Given the description of an element on the screen output the (x, y) to click on. 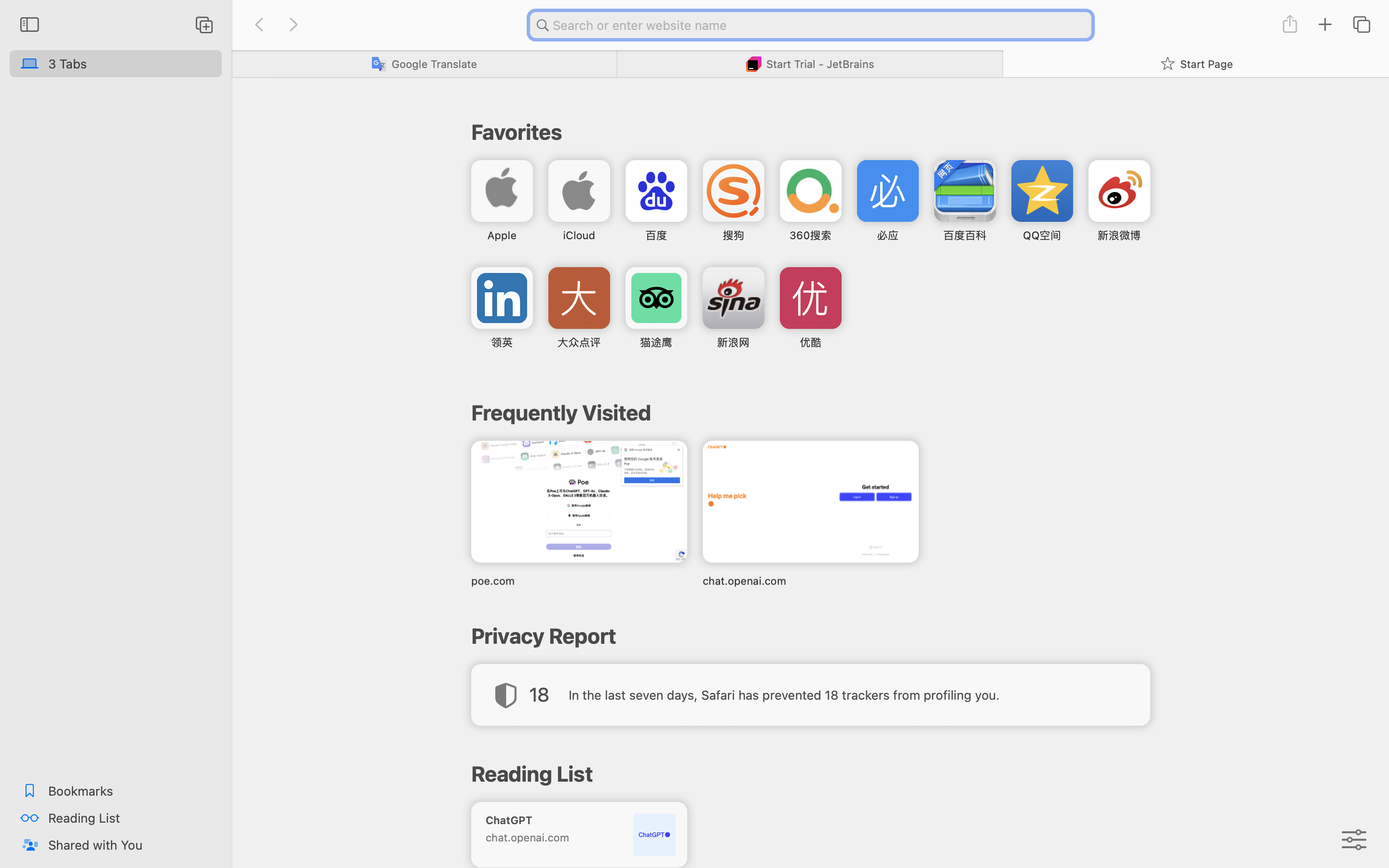
新浪网 Element type: AXButton (732, 342)
大众点评 Element type: AXButton (578, 342)
百度百科 Element type: AXButton (964, 235)
猫途鹰 Element type: AXButton (655, 342)
iCloud Element type: AXButton (578, 235)
